Given the description of an element on the screen output the (x, y) to click on. 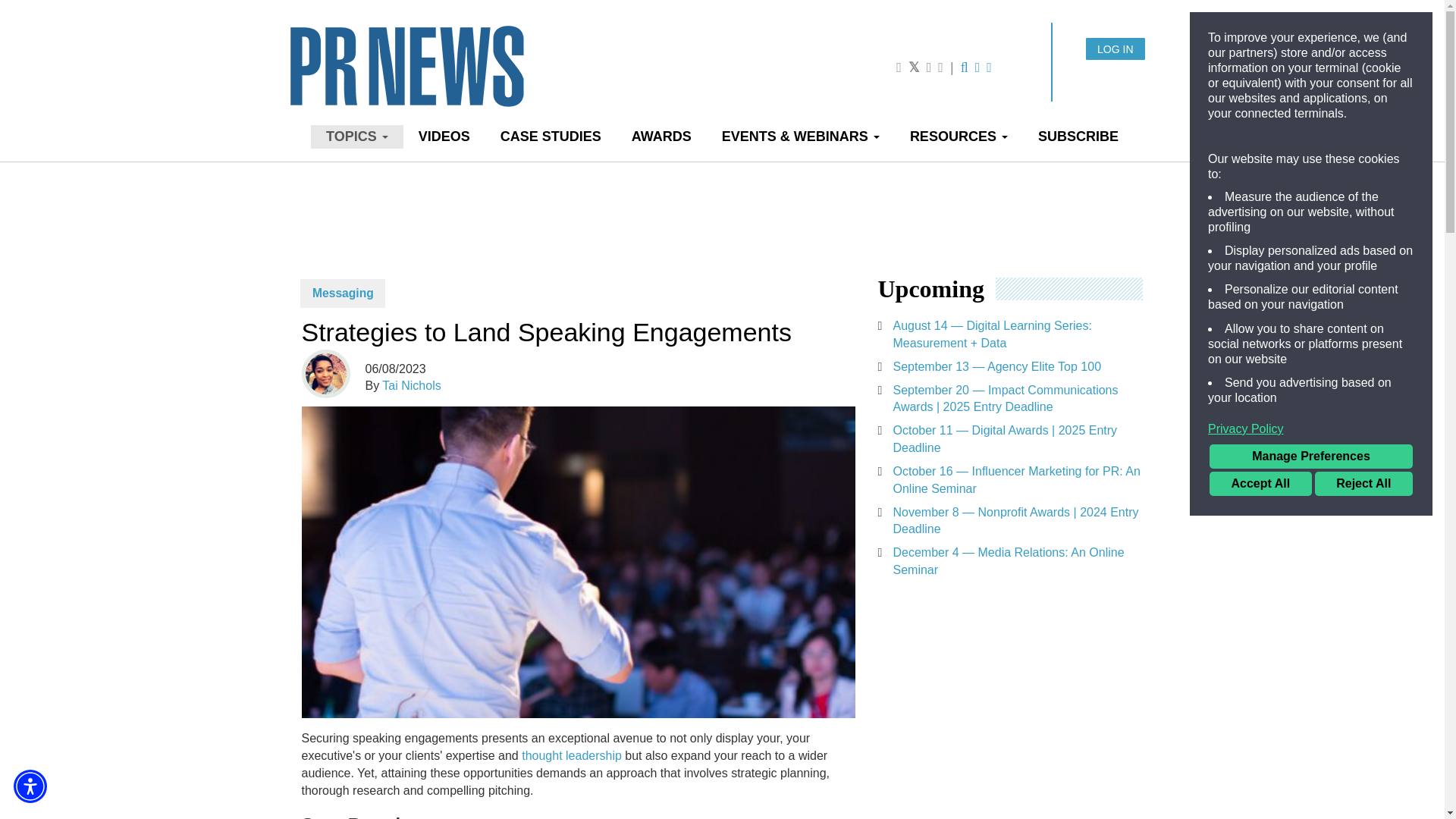
Reject All (1363, 483)
Agency Elite Top 100 (1009, 366)
VIDEOS (443, 136)
CASE STUDIES (549, 136)
3rd party ad content (991, 714)
Influencer Marketing for PR: An Online Seminar (1009, 480)
Privacy Policy (1310, 428)
Accessibility Menu (29, 786)
LOG IN (1115, 48)
Accept All (1260, 483)
AWARDS (660, 136)
Manage Preferences (1310, 456)
Media Relations: An Online Seminar (1009, 561)
TOPICS (357, 136)
PRNEWS (458, 78)
